Given the description of an element on the screen output the (x, y) to click on. 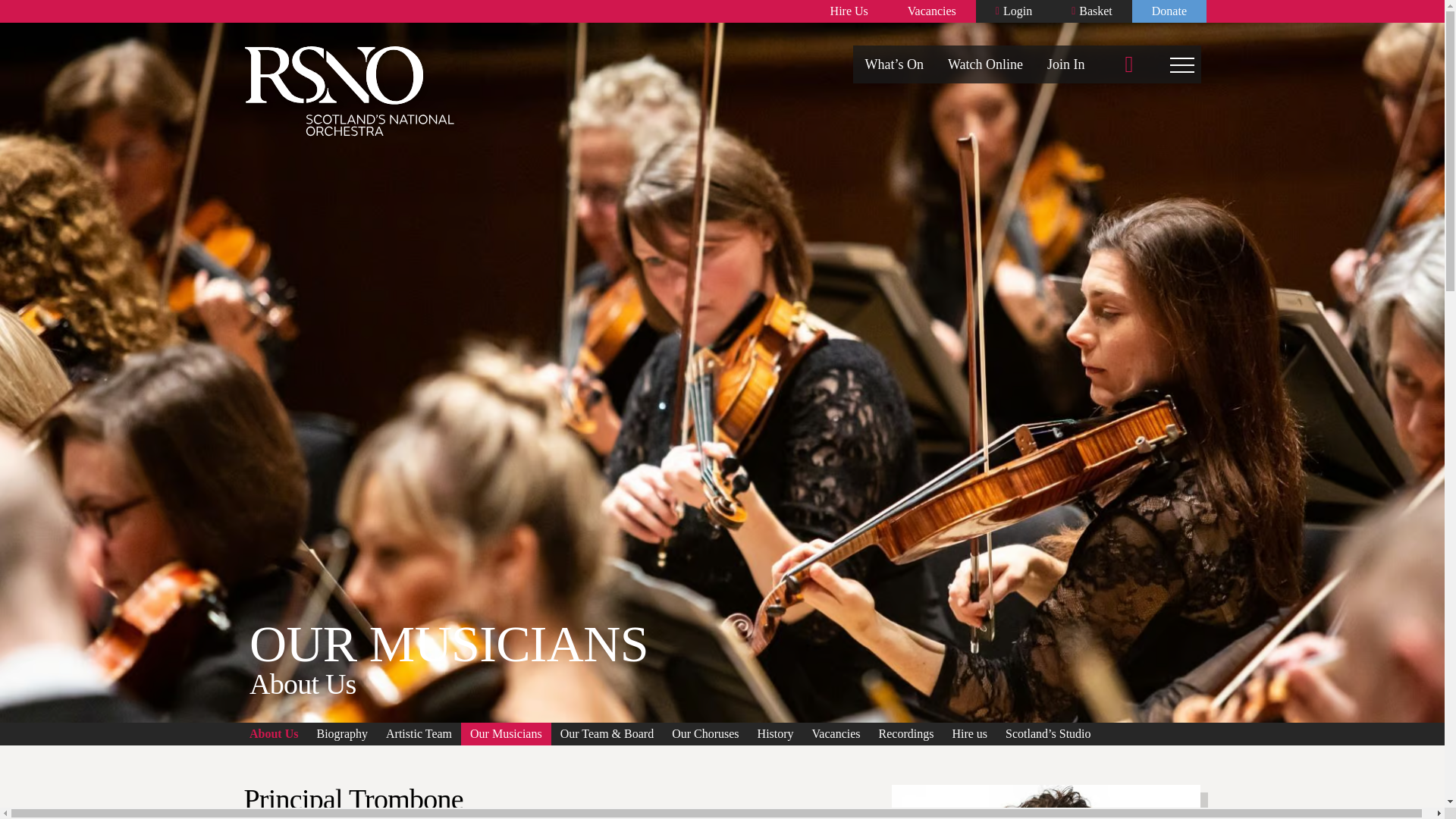
Menu (1182, 64)
Join In (1066, 64)
Watch Online (985, 64)
Basket (1091, 11)
Login (1013, 11)
Hire Us (849, 11)
Donate (1169, 11)
Vacancies (931, 11)
